Given the description of an element on the screen output the (x, y) to click on. 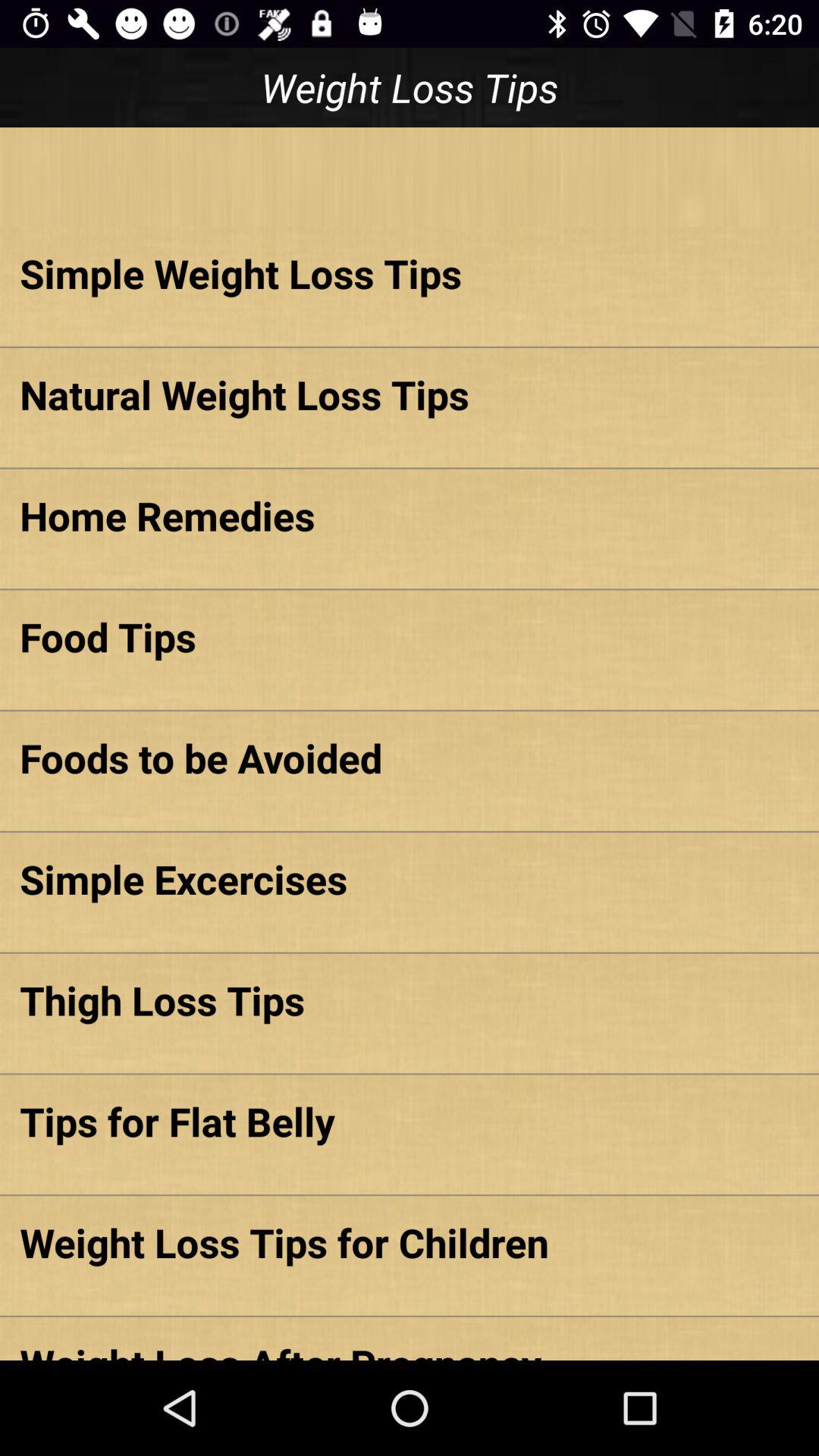
jump until home remedies icon (409, 515)
